Given the description of an element on the screen output the (x, y) to click on. 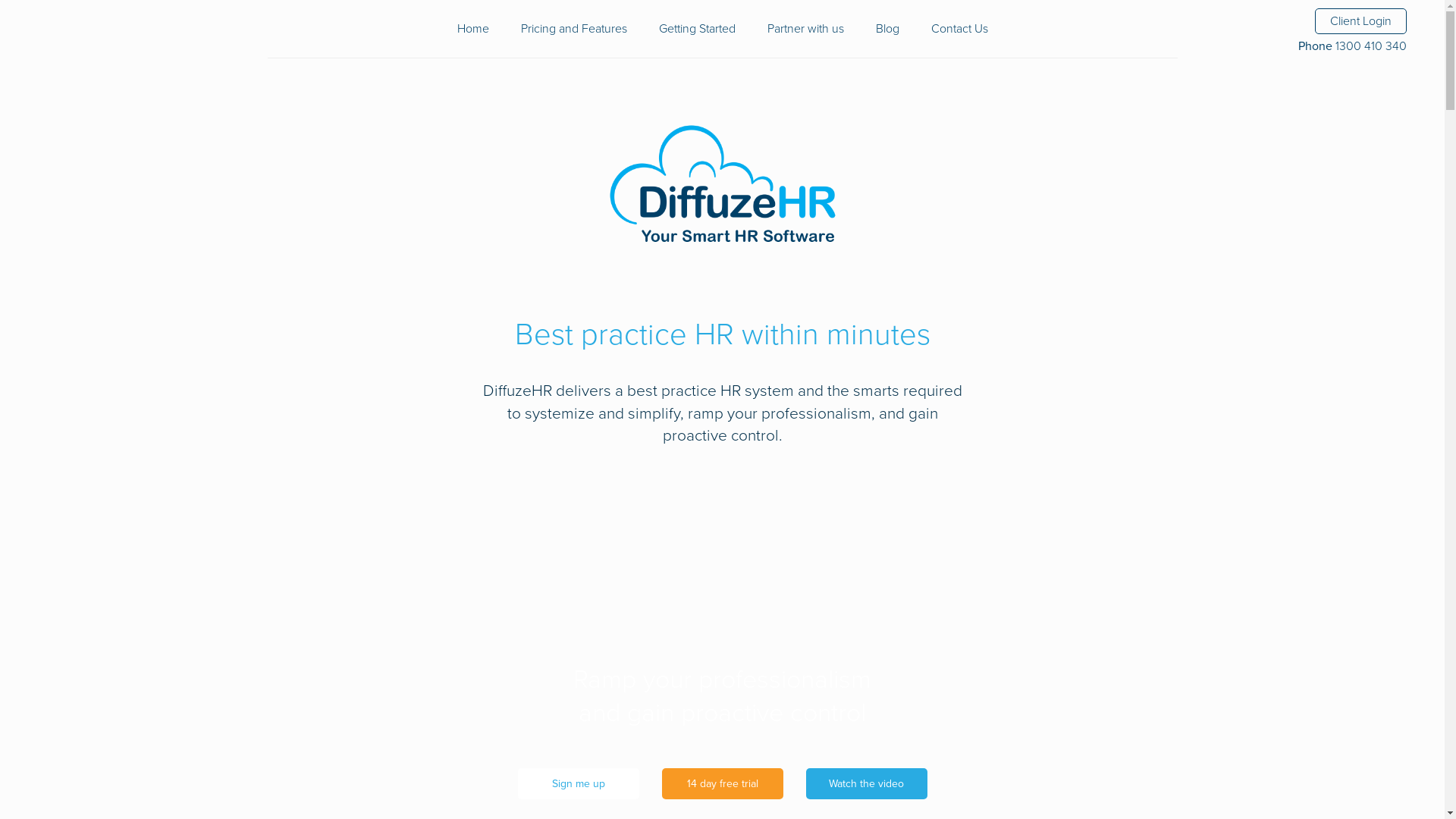
Pricing and Features Element type: text (573, 28)
Phone 1300 410 340 Element type: text (1352, 46)
Getting Started Element type: text (696, 28)
Home Element type: text (472, 28)
14 day free trial Element type: text (721, 783)
Contact Us Element type: text (959, 28)
Sign me up Element type: text (577, 783)
Partner with us Element type: text (805, 28)
Continue Element type: text (722, 598)
Blog Element type: text (886, 28)
Client Login Element type: text (1360, 21)
DiffuzeHR Australia Element type: hover (721, 185)
Watch the video Element type: text (865, 783)
